Given the description of an element on the screen output the (x, y) to click on. 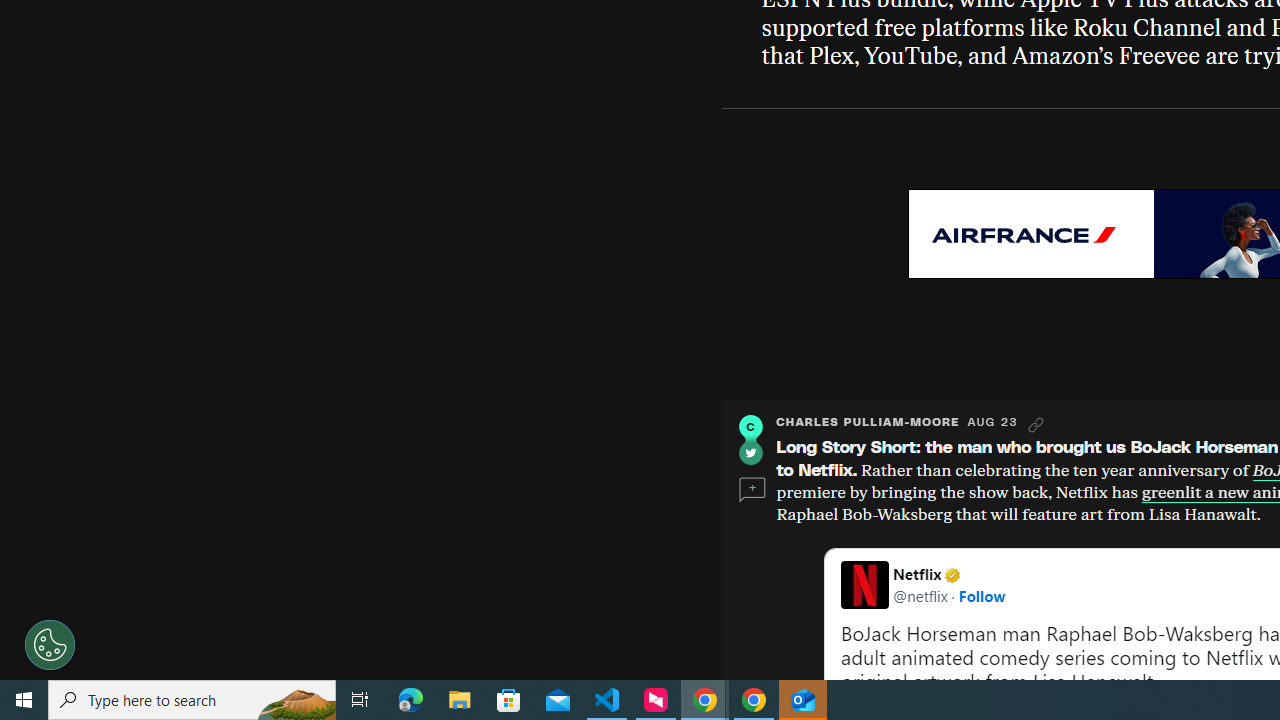
CHARLES PULLIAM-MOORE (867, 421)
AUG 23 (992, 421)
Follow (981, 595)
Netflix Verified account (949, 574)
Verified account (952, 574)
Link (1036, 425)
Twitter (749, 452)
Open Preferences (50, 644)
@netflix (920, 595)
Comments (751, 490)
Copy link (1036, 425)
